Given the description of an element on the screen output the (x, y) to click on. 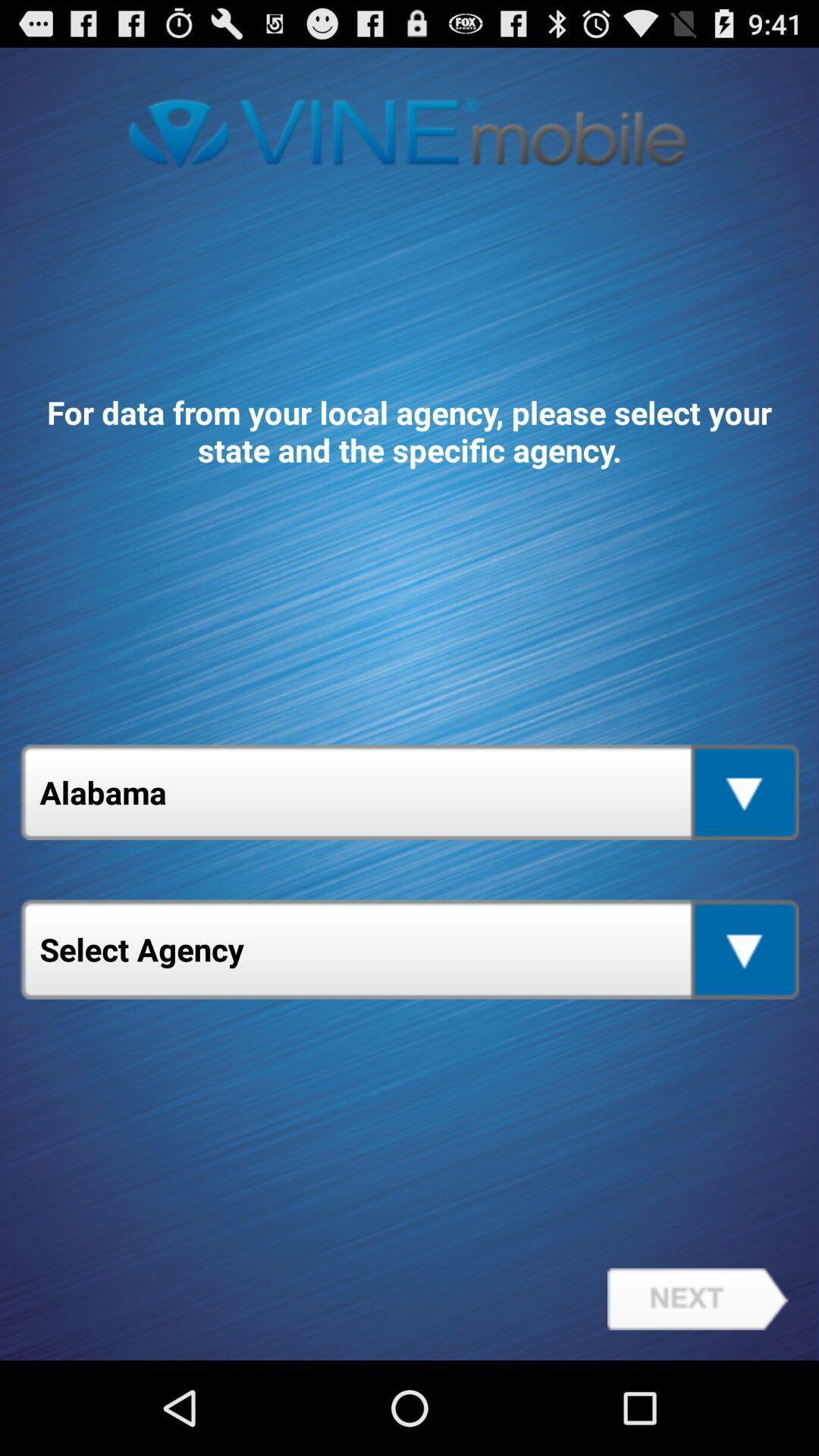
click the icon above the select agency app (409, 792)
